Given the description of an element on the screen output the (x, y) to click on. 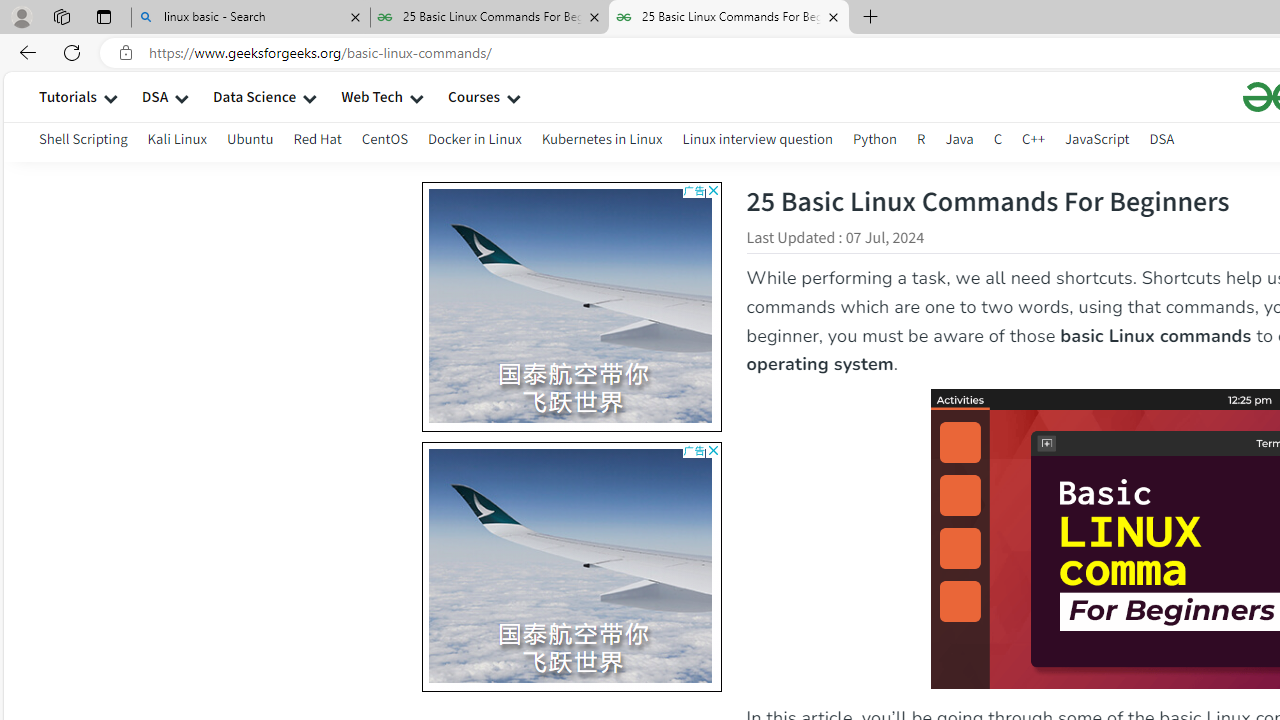
C++ (1034, 138)
Shell Scripting (83, 142)
Red Hat (317, 138)
C (997, 142)
Docker in Linux (474, 142)
Kubernetes in Linux (602, 138)
AutomationID: brandLogo (571, 566)
CentOS (384, 138)
Linux interview question (757, 142)
AutomationID: wheel (422, 443)
AutomationID: gradient3 (856, 566)
DSA (1162, 138)
